Given the description of an element on the screen output the (x, y) to click on. 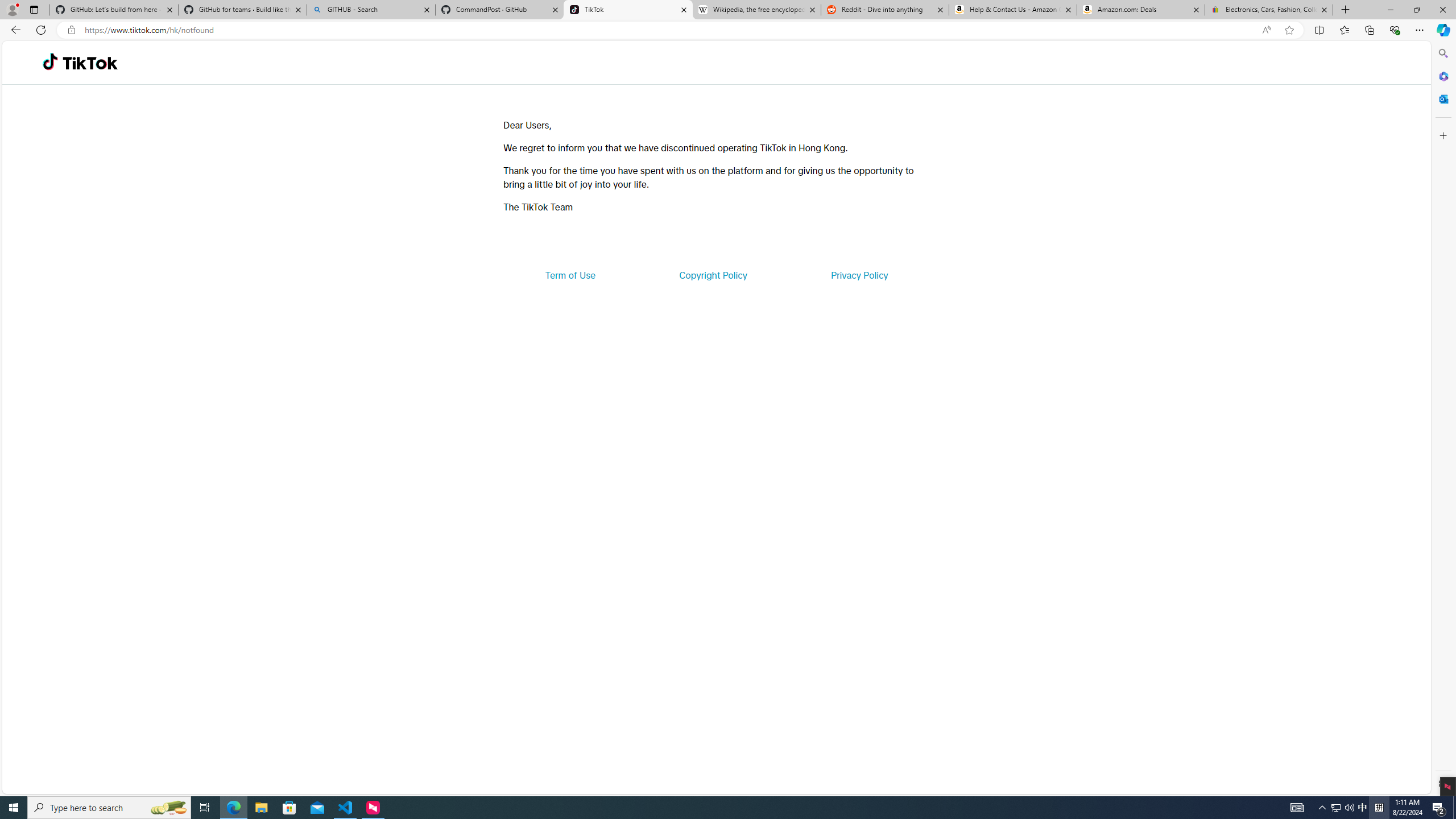
GITHUB - Search (370, 9)
Amazon.com: Deals (1140, 9)
TikTok (89, 62)
Privacy Policy (858, 274)
